Given the description of an element on the screen output the (x, y) to click on. 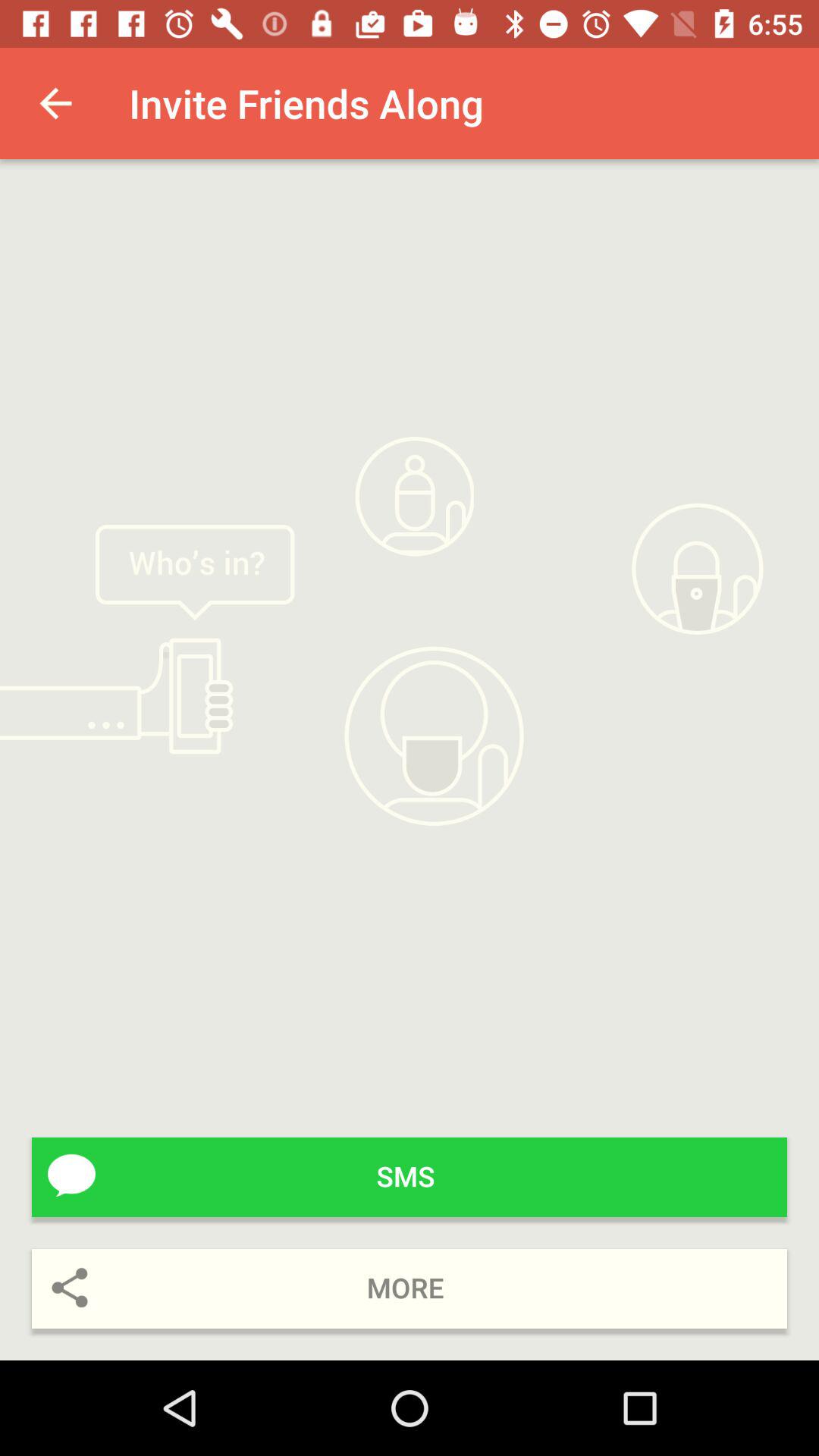
turn on the app next to  invite friends along (55, 103)
